Given the description of an element on the screen output the (x, y) to click on. 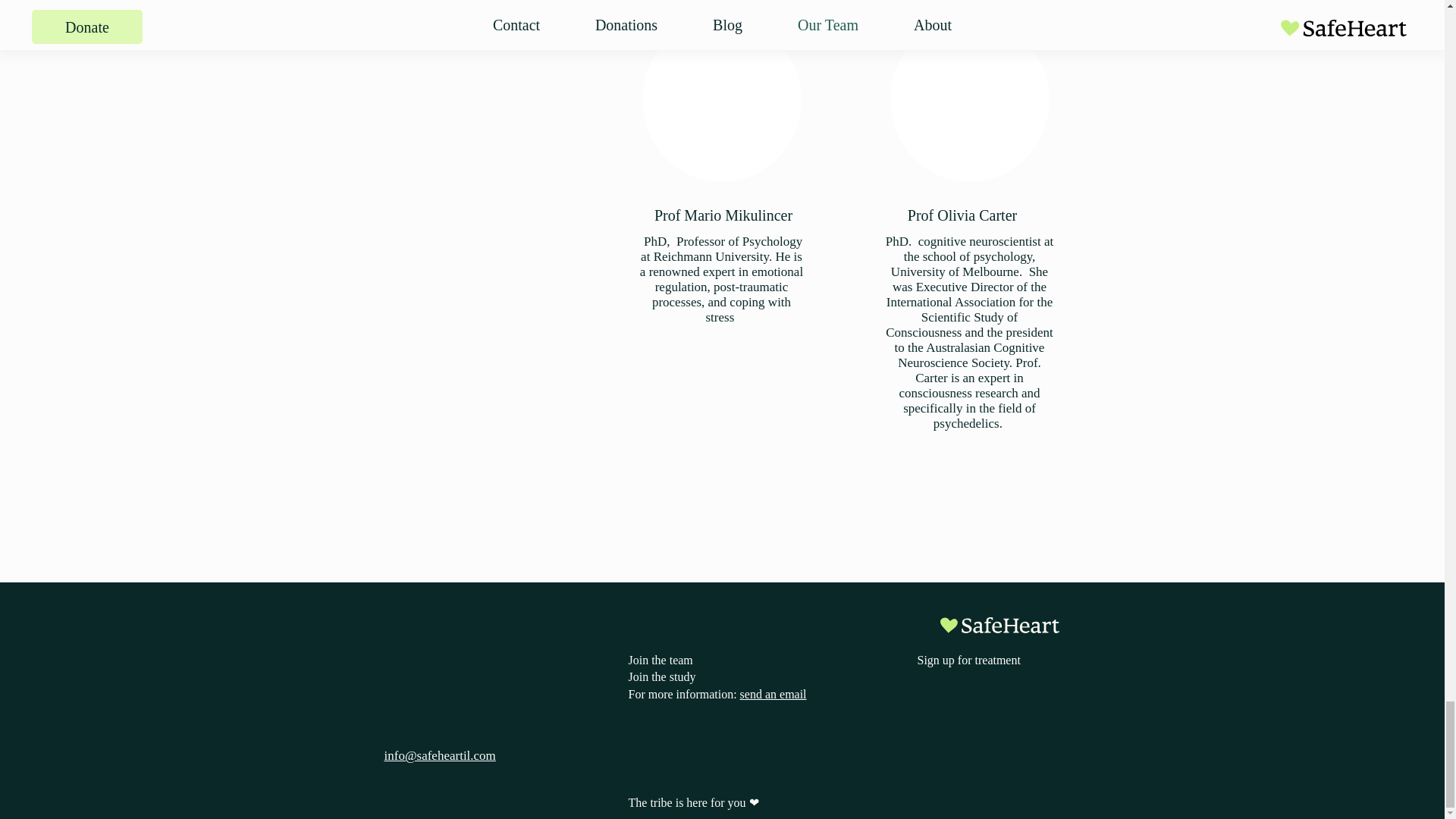
Join the study (661, 676)
 send an email (771, 694)
Sign up for treatment (968, 659)
Join the team (660, 659)
